Given the description of an element on the screen output the (x, y) to click on. 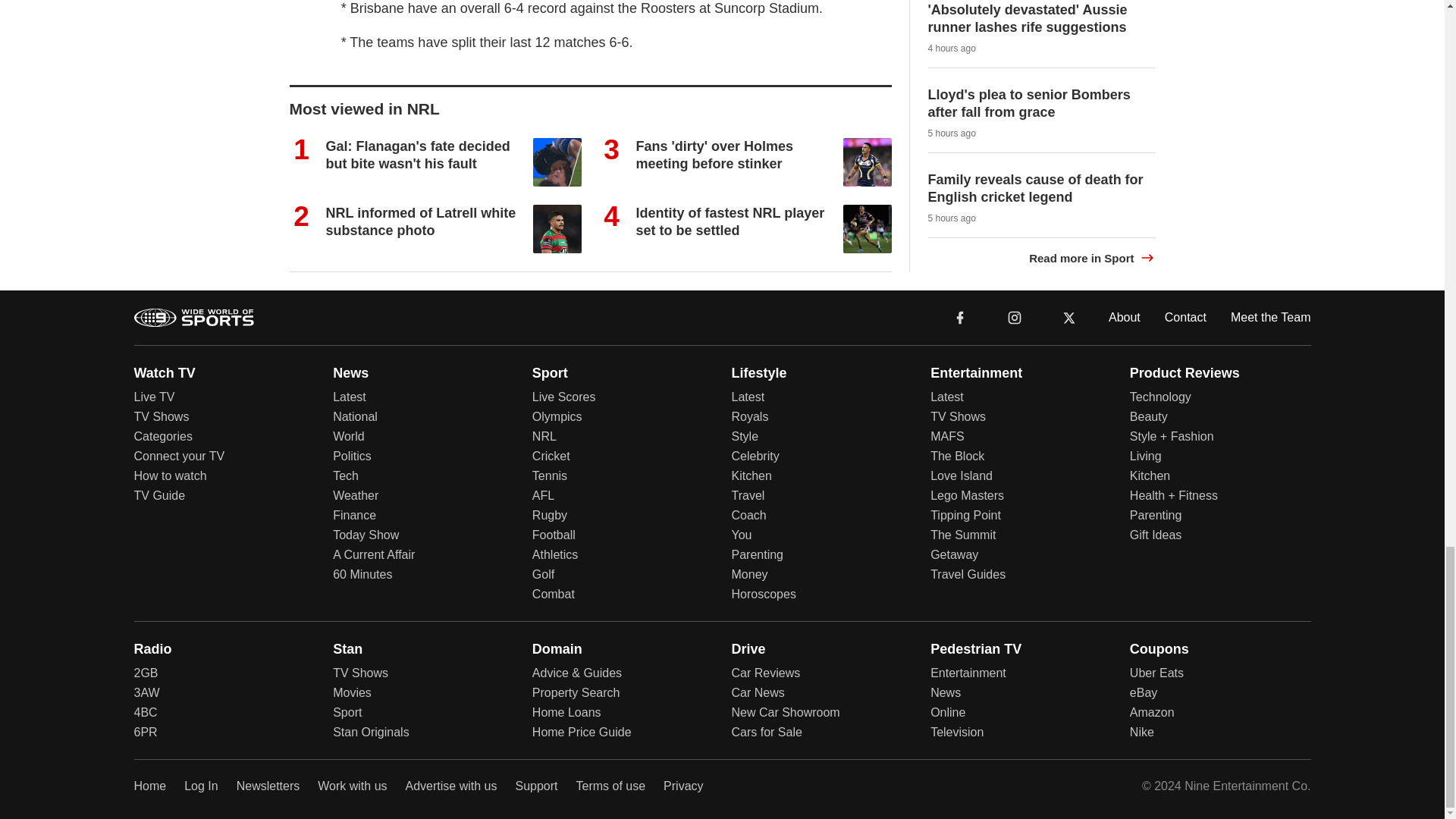
Gal: Flanagan's fate decided but bite wasn't his fault (418, 154)
instagram (1013, 316)
instagram (1014, 317)
instagram (1013, 316)
x (1069, 316)
facebook (959, 316)
facebook (960, 317)
NRL informed of Latrell white substance photo (421, 221)
x (1069, 317)
x (1069, 316)
